Given the description of an element on the screen output the (x, y) to click on. 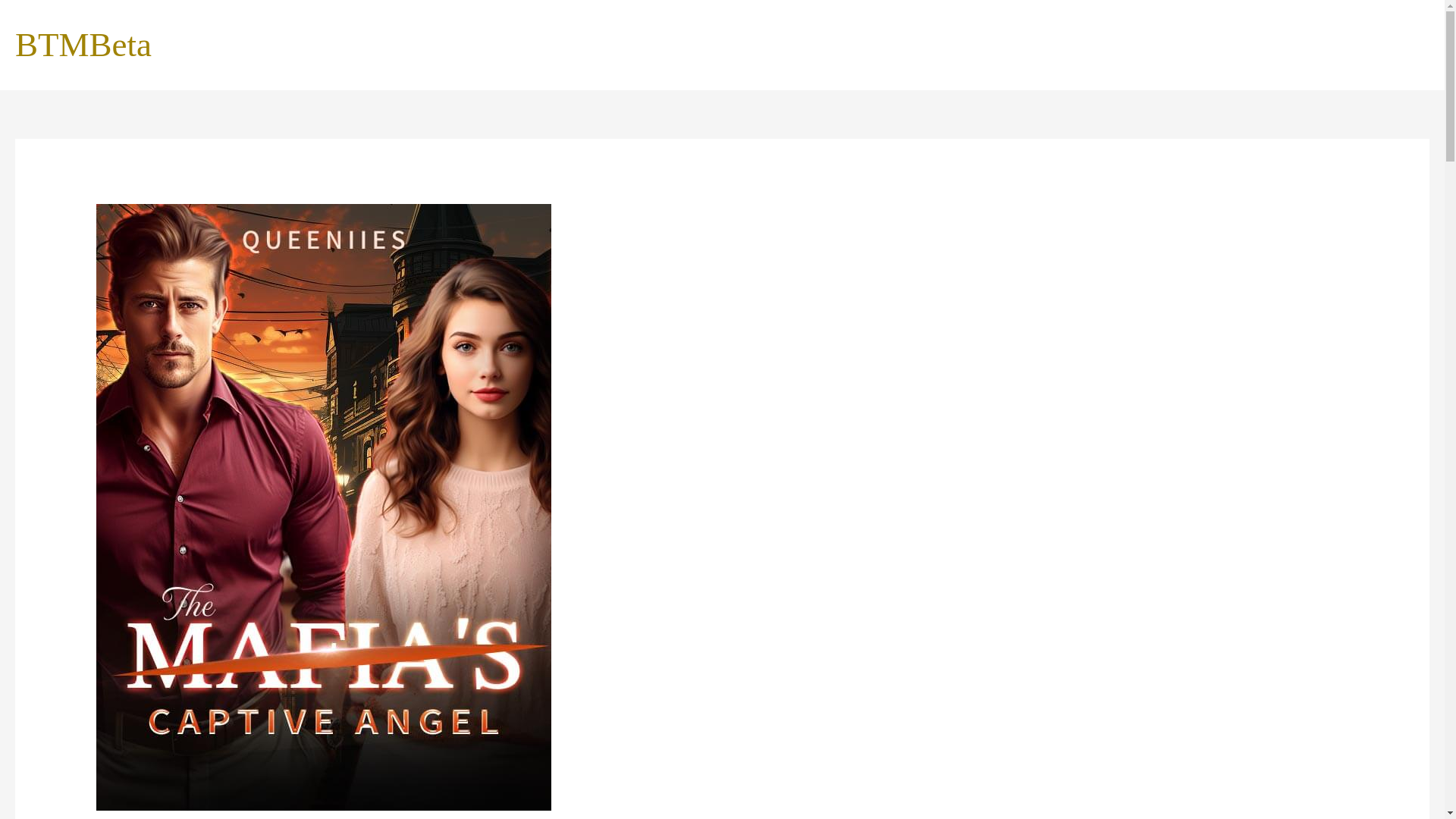
BTMBeta (82, 44)
